Given the description of an element on the screen output the (x, y) to click on. 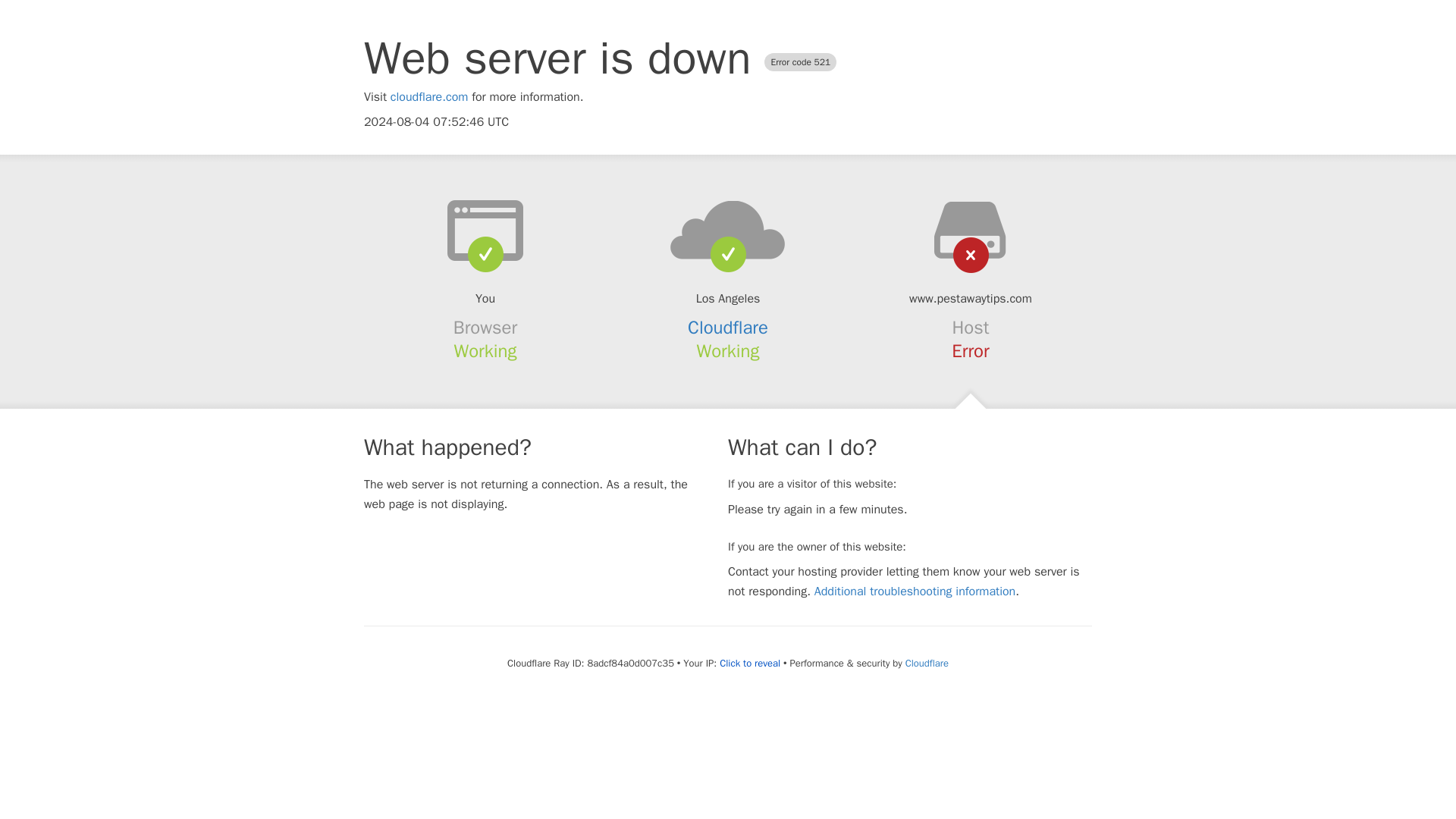
Cloudflare (927, 662)
Cloudflare (727, 327)
Additional troubleshooting information (913, 590)
cloudflare.com (429, 96)
Click to reveal (749, 663)
